Given the description of an element on the screen output the (x, y) to click on. 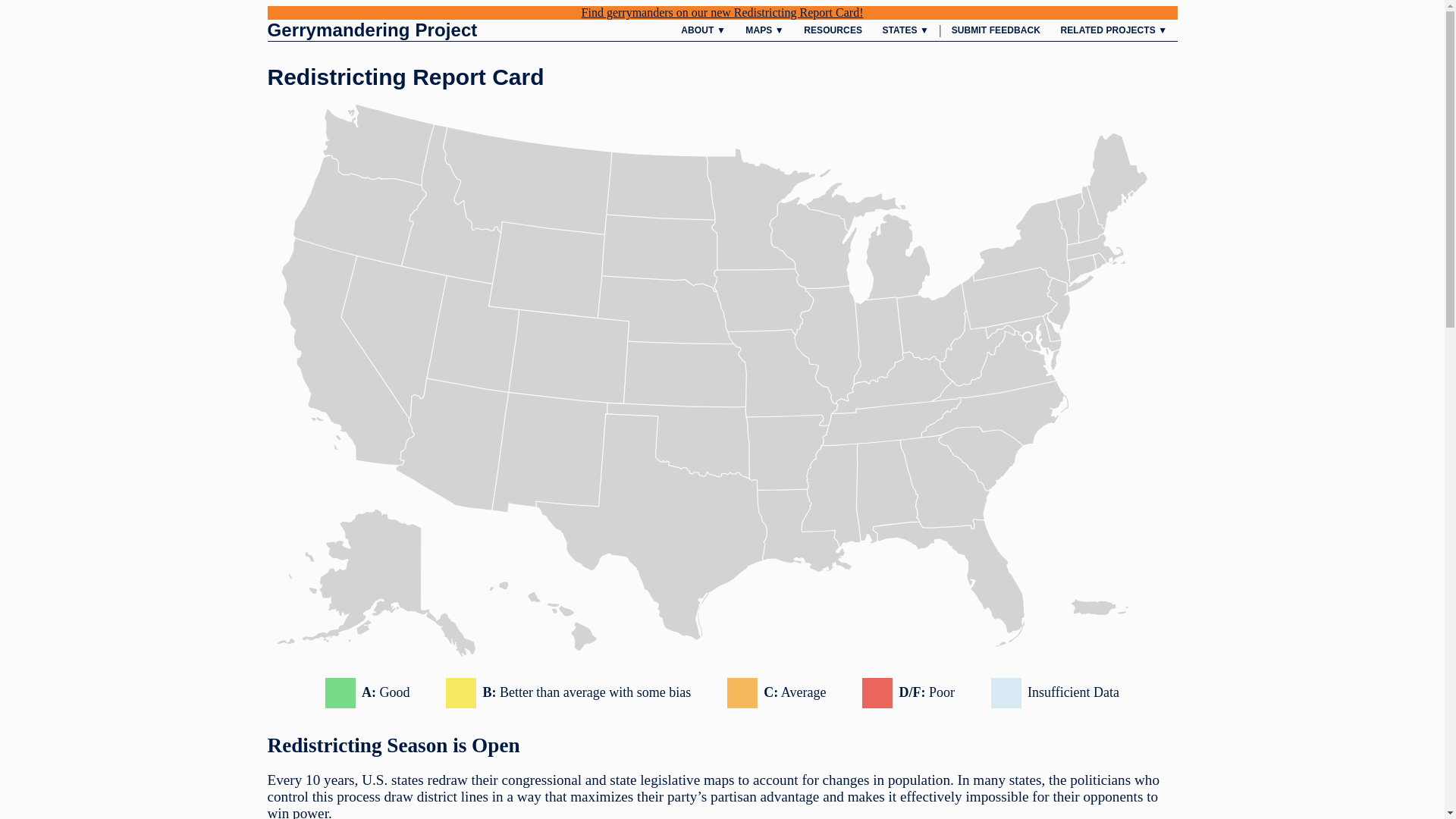
RESOURCES (832, 29)
Gerrymandering Project (371, 29)
Find gerrymanders on our new Redistricting Report Card! (721, 12)
